Given the description of an element on the screen output the (x, y) to click on. 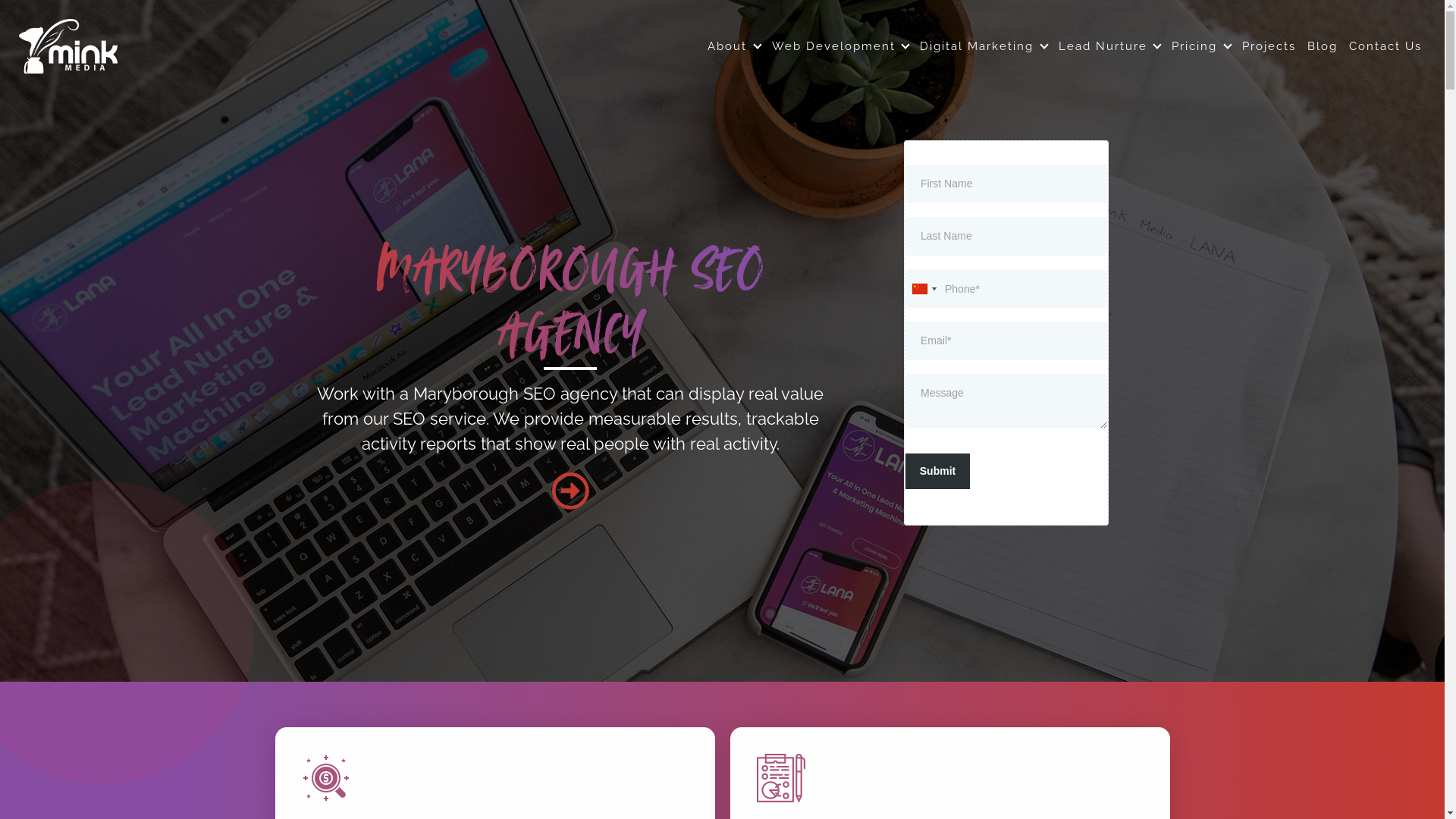
Mink Media Element type: text (71, 83)
Lead Nurture Element type: text (1109, 40)
Mink Media Element type: hover (67, 45)
Contact Us Element type: text (1385, 40)
Web Development Element type: text (839, 40)
Projects Element type: text (1268, 40)
Blog Element type: text (1322, 40)
